Given the description of an element on the screen output the (x, y) to click on. 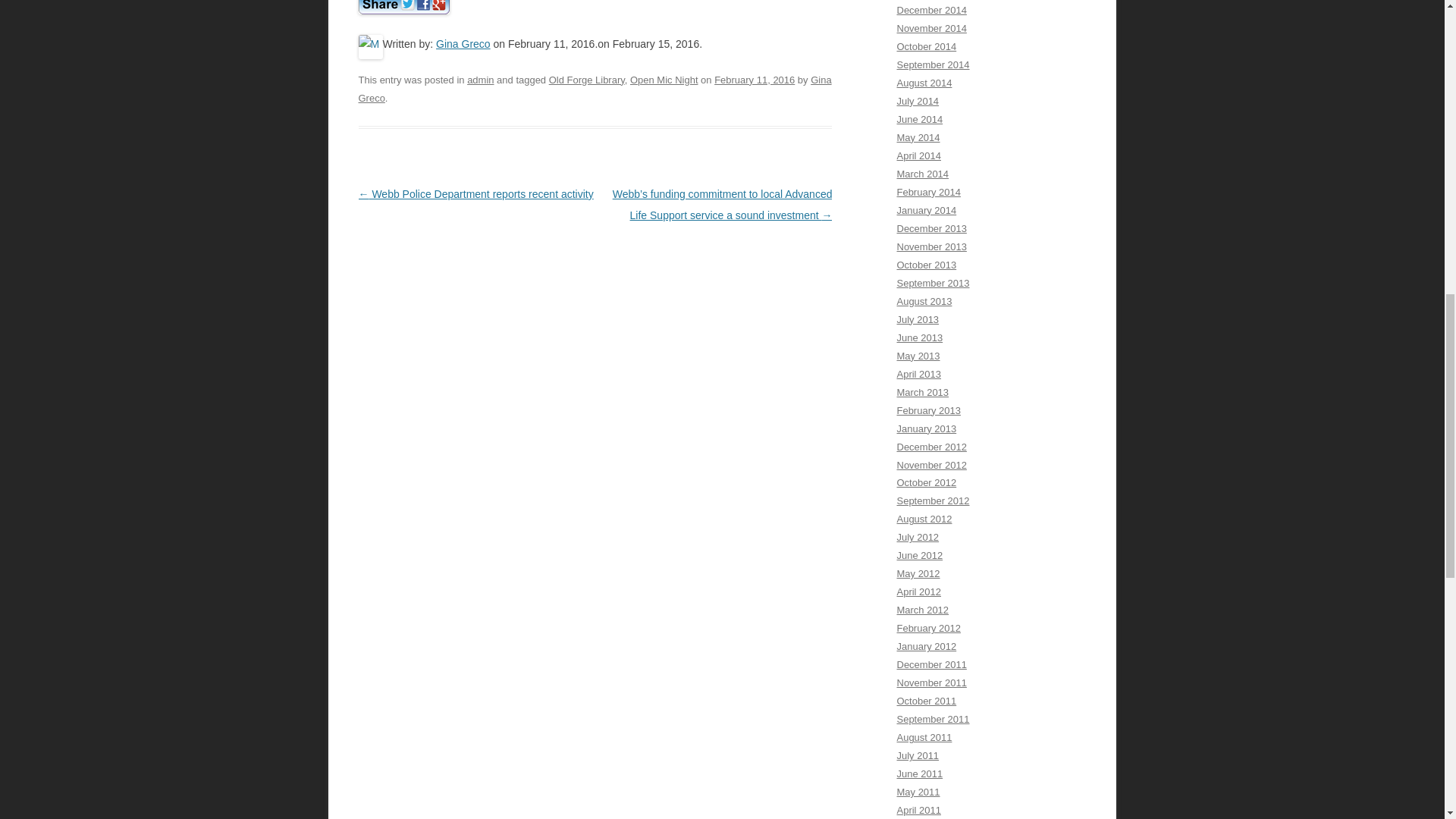
October 2014 (926, 46)
September 2014 (932, 64)
Gina Greco (594, 89)
November 2014 (931, 28)
admin (480, 79)
December 2014 (931, 9)
12:18 pm (754, 79)
View all posts by Gina Greco (594, 89)
Old Forge Library (586, 79)
More about Gina Greco  (462, 43)
